Given the description of an element on the screen output the (x, y) to click on. 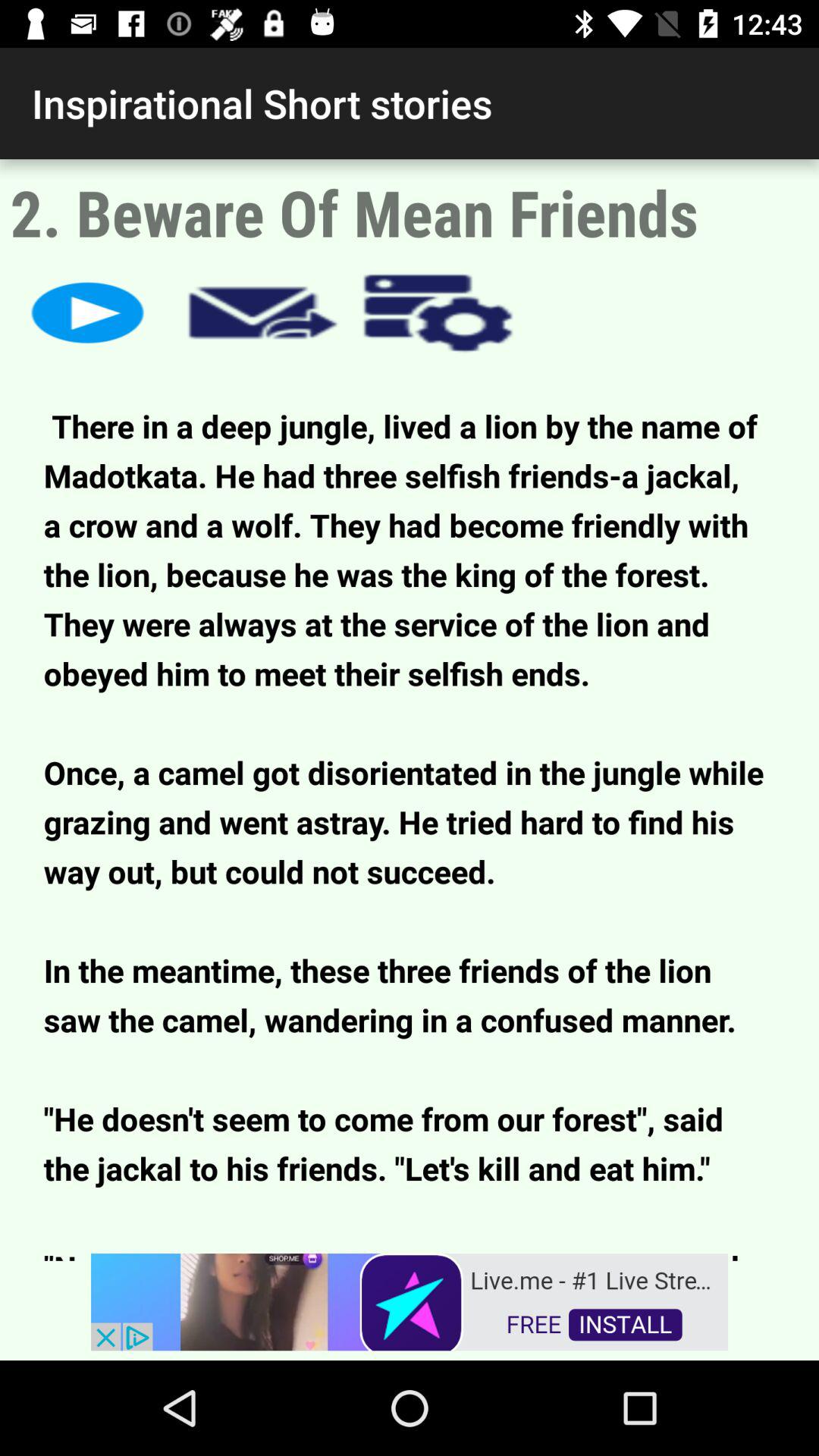
install an app (409, 1300)
